Given the description of an element on the screen output the (x, y) to click on. 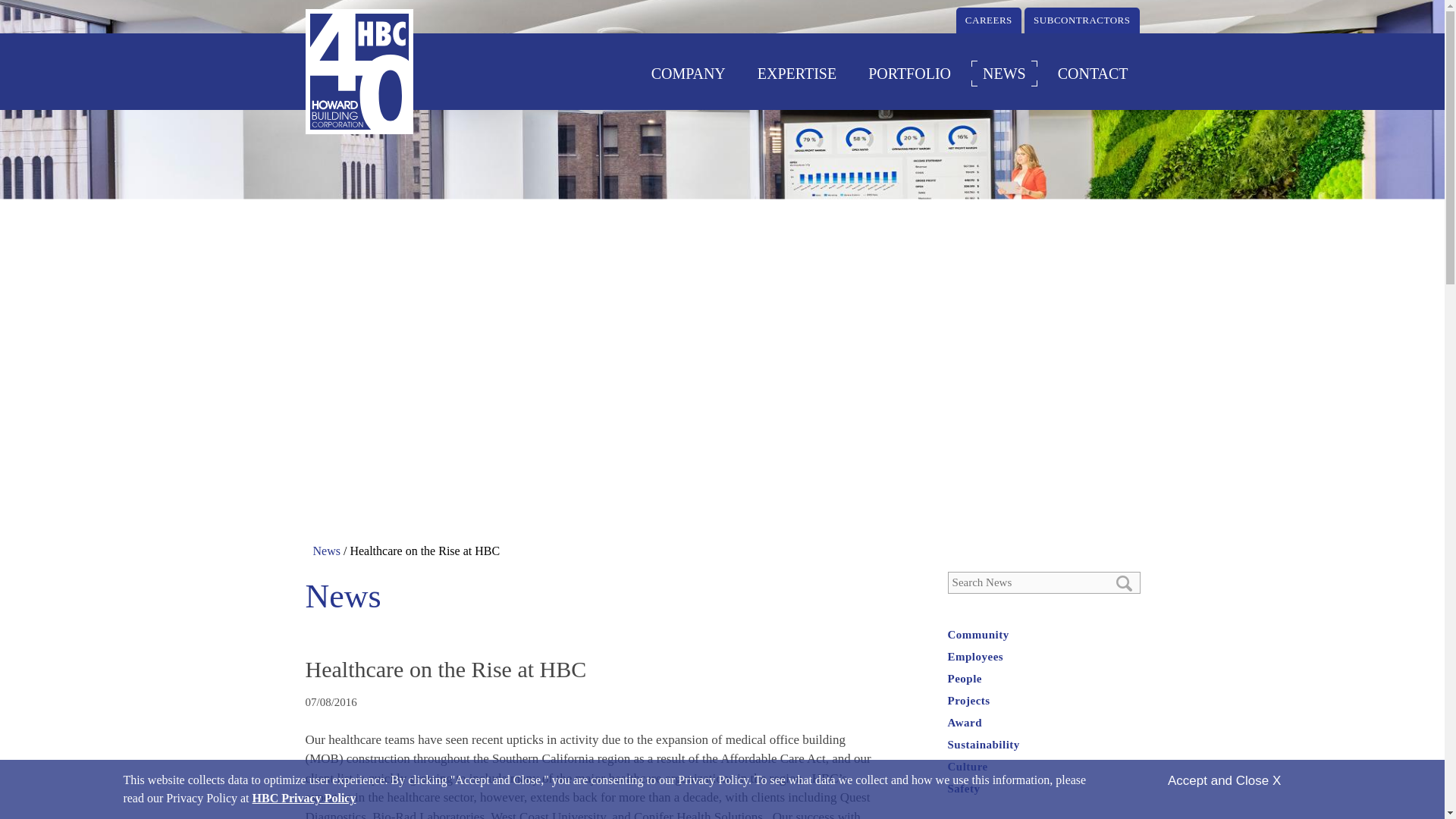
People (964, 678)
News (326, 550)
NEWS (1015, 73)
Employees (975, 656)
Submit (1124, 583)
CAREERS (989, 20)
Community (978, 634)
Projects (968, 700)
Safety (963, 788)
Sustainability (983, 744)
